Given the description of an element on the screen output the (x, y) to click on. 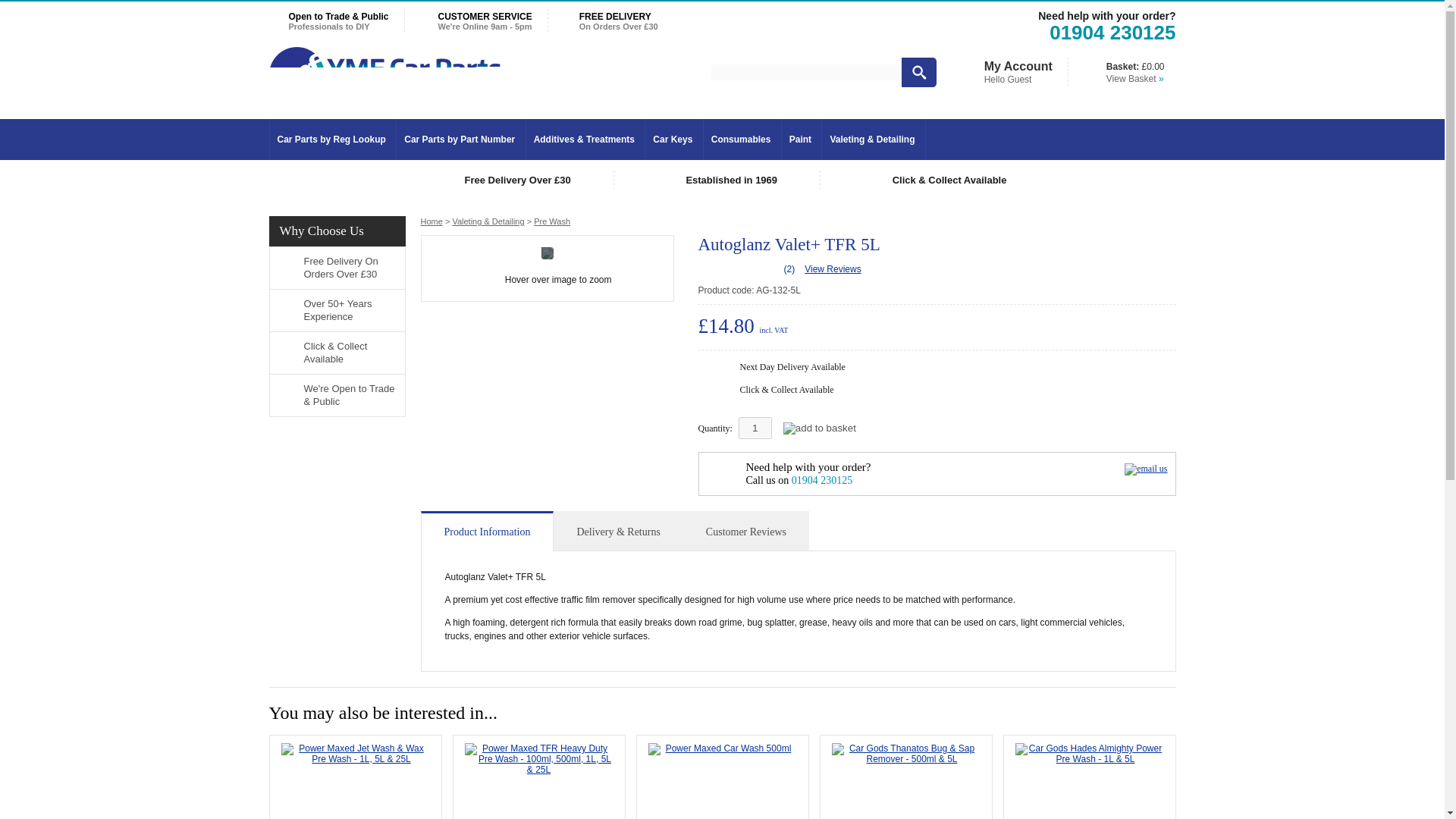
Need help with your order? (1106, 15)
Car Parts by Reg Lookup (331, 139)
01904 230125 (1111, 34)
My Account (1018, 65)
1 (754, 427)
Car Parts by Part Number (459, 139)
